Given the description of an element on the screen output the (x, y) to click on. 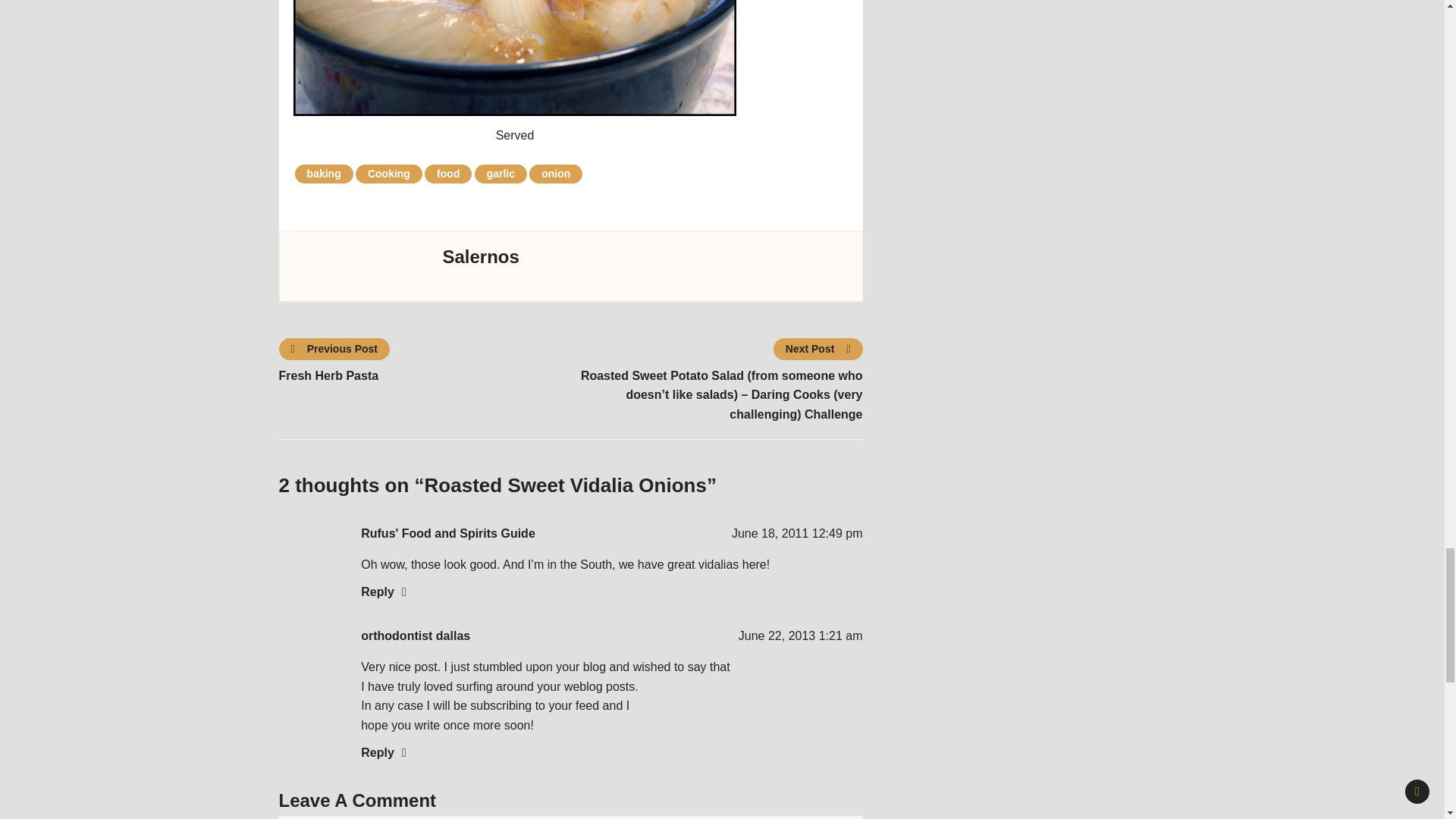
Previous Post (334, 348)
onion (555, 174)
Reply (383, 752)
Cooking (388, 174)
Fresh Herb Pasta (424, 375)
Next Post (818, 348)
food (448, 174)
orthodontist dallas (415, 635)
Reply (383, 591)
garlic (500, 174)
baking (324, 174)
Rufus' Food and Spirits Guide (448, 533)
